Given the description of an element on the screen output the (x, y) to click on. 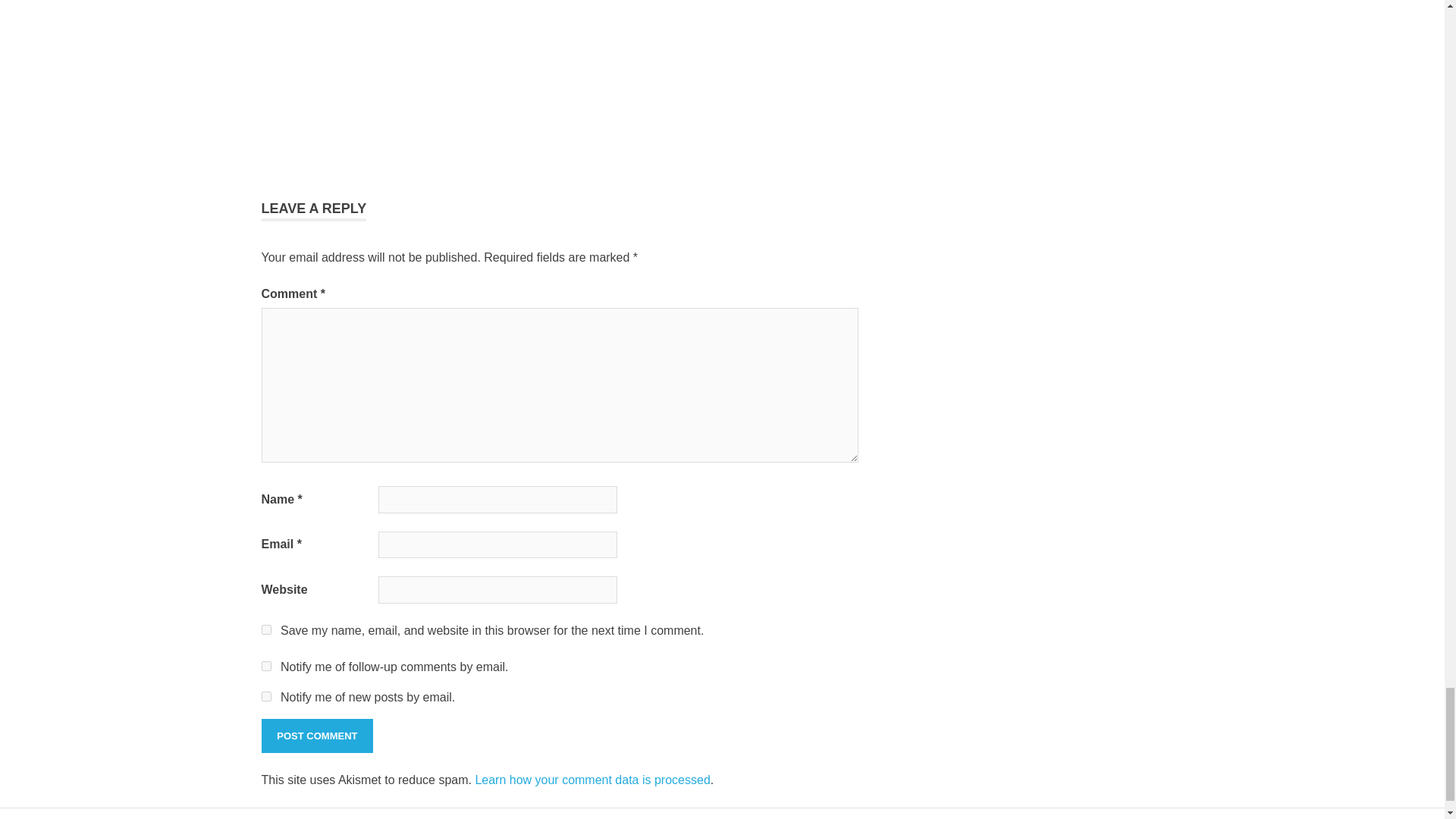
Post Comment (316, 736)
Post Comment (316, 736)
yes (265, 629)
subscribe (265, 696)
subscribe (265, 665)
Learn how your comment data is processed (592, 779)
